Given the description of an element on the screen output the (x, y) to click on. 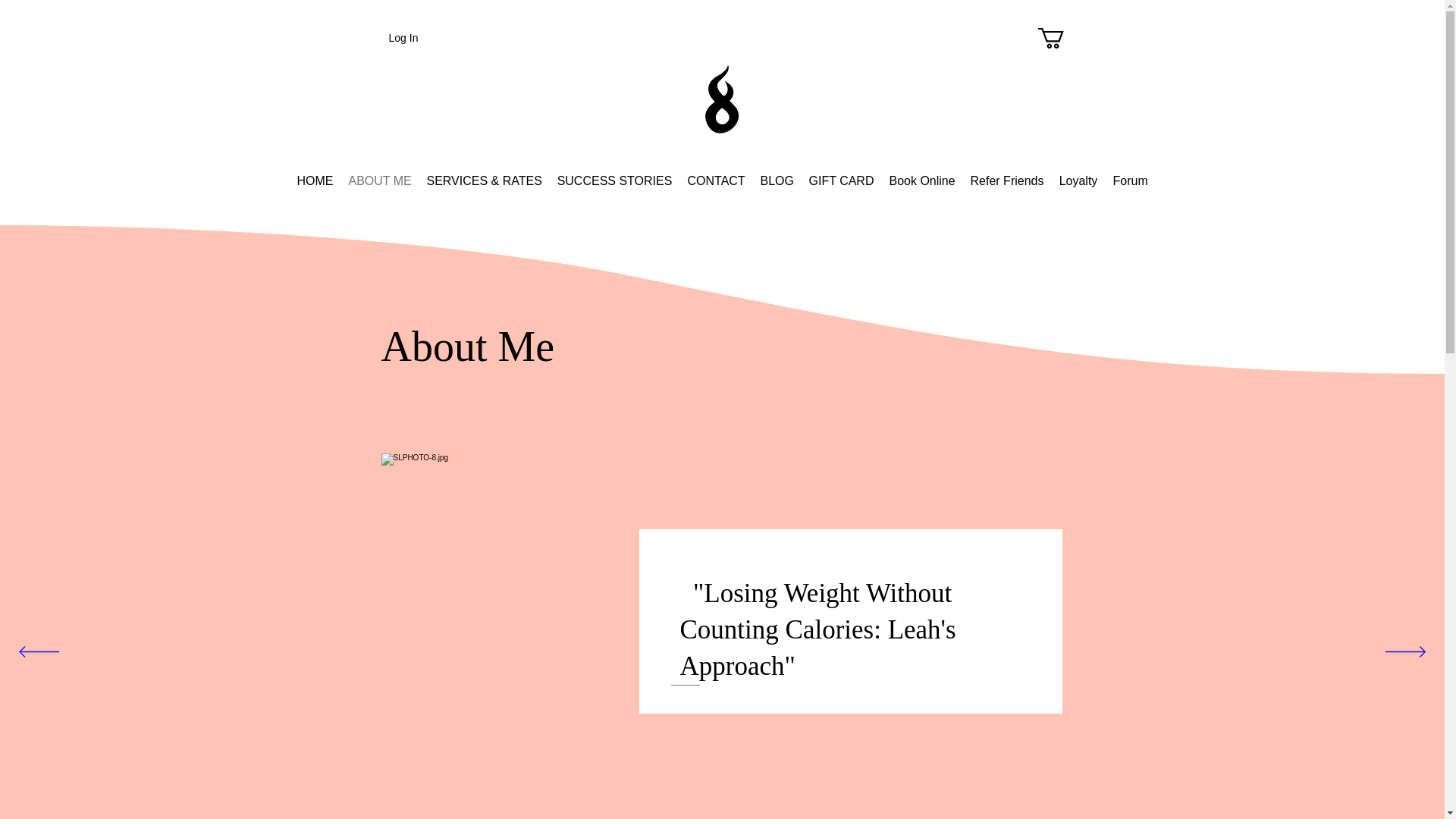
HOME (314, 180)
GIFT CARD (840, 180)
SUCCESS STORIES (613, 180)
CONTACT (715, 180)
Refer Friends (1006, 180)
Forum (1130, 180)
Loyalty (1078, 180)
ABOUT ME (379, 180)
Log In (384, 38)
Book Online (921, 180)
